Given the description of an element on the screen output the (x, y) to click on. 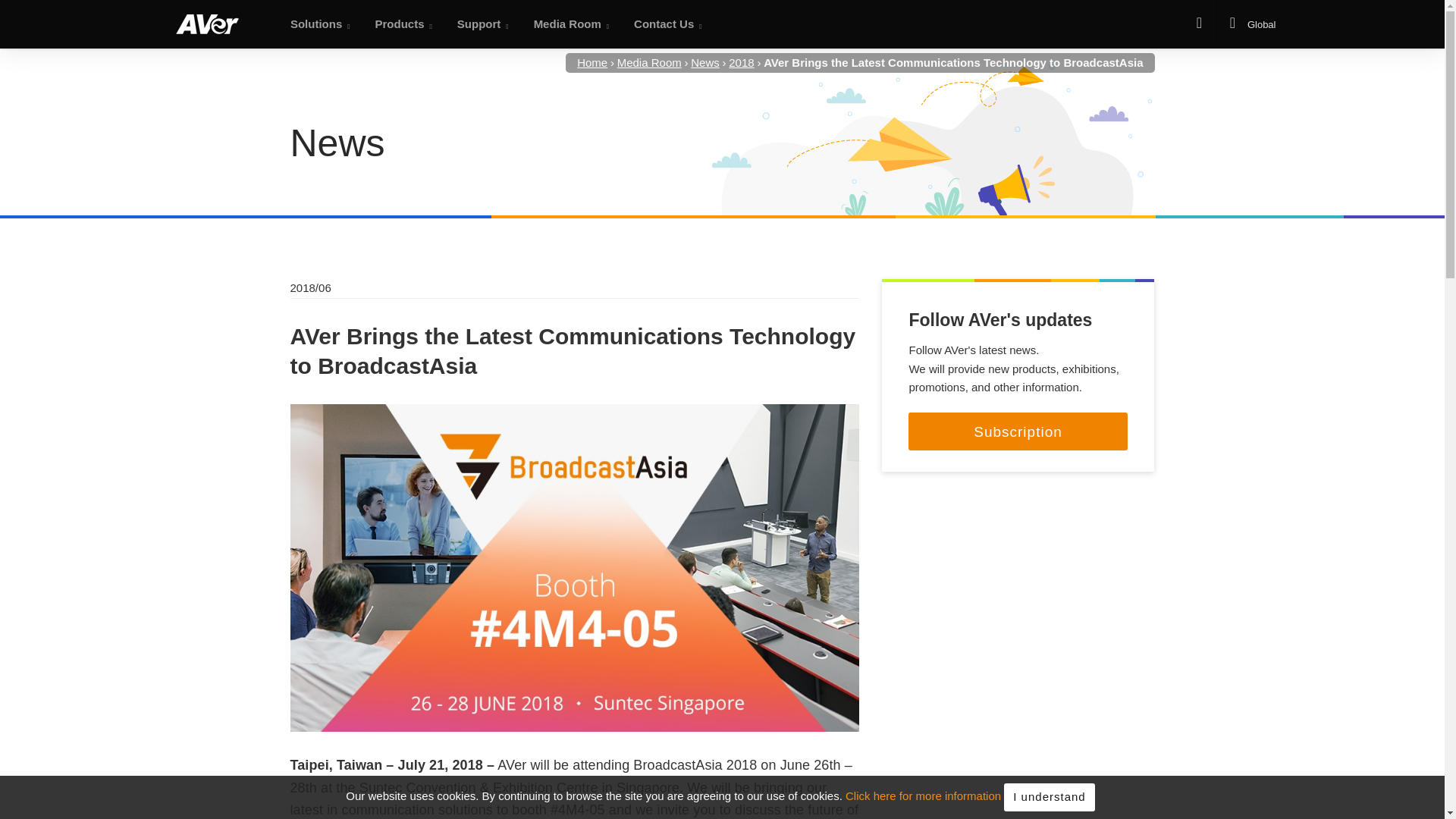
Contact Us (664, 24)
Products (400, 24)
Solutions (317, 24)
Support (480, 24)
Media Room (568, 24)
AVer Information (207, 24)
